Given the description of an element on the screen output the (x, y) to click on. 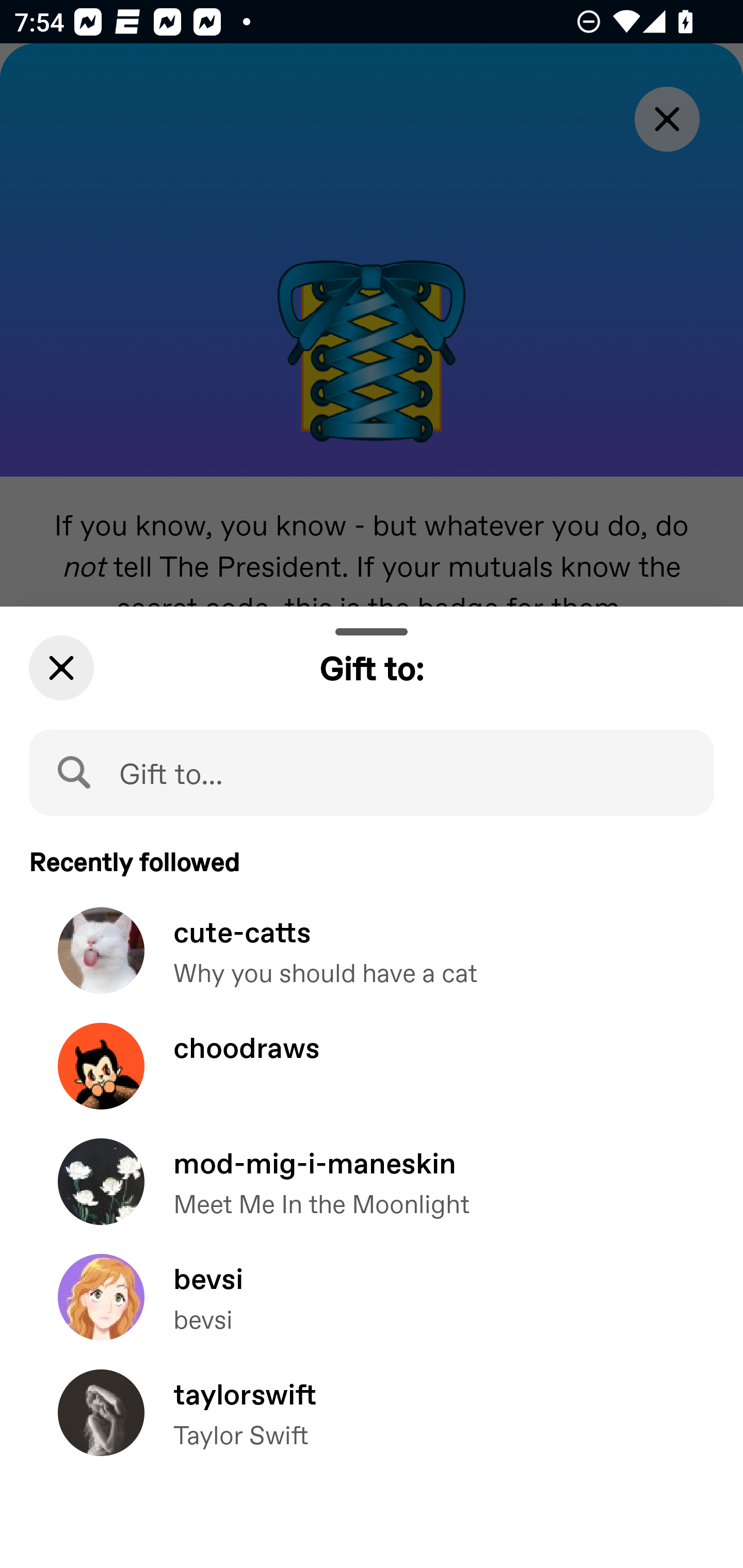
Gift to... (371, 772)
cute-catts Why you should have a cat (371, 964)
choodraws (371, 1080)
mod-mig-i-maneskin Meet Me In the Moonlight (371, 1196)
bevsi (371, 1311)
taylorswift Taylor Swift (371, 1426)
